Given the description of an element on the screen output the (x, y) to click on. 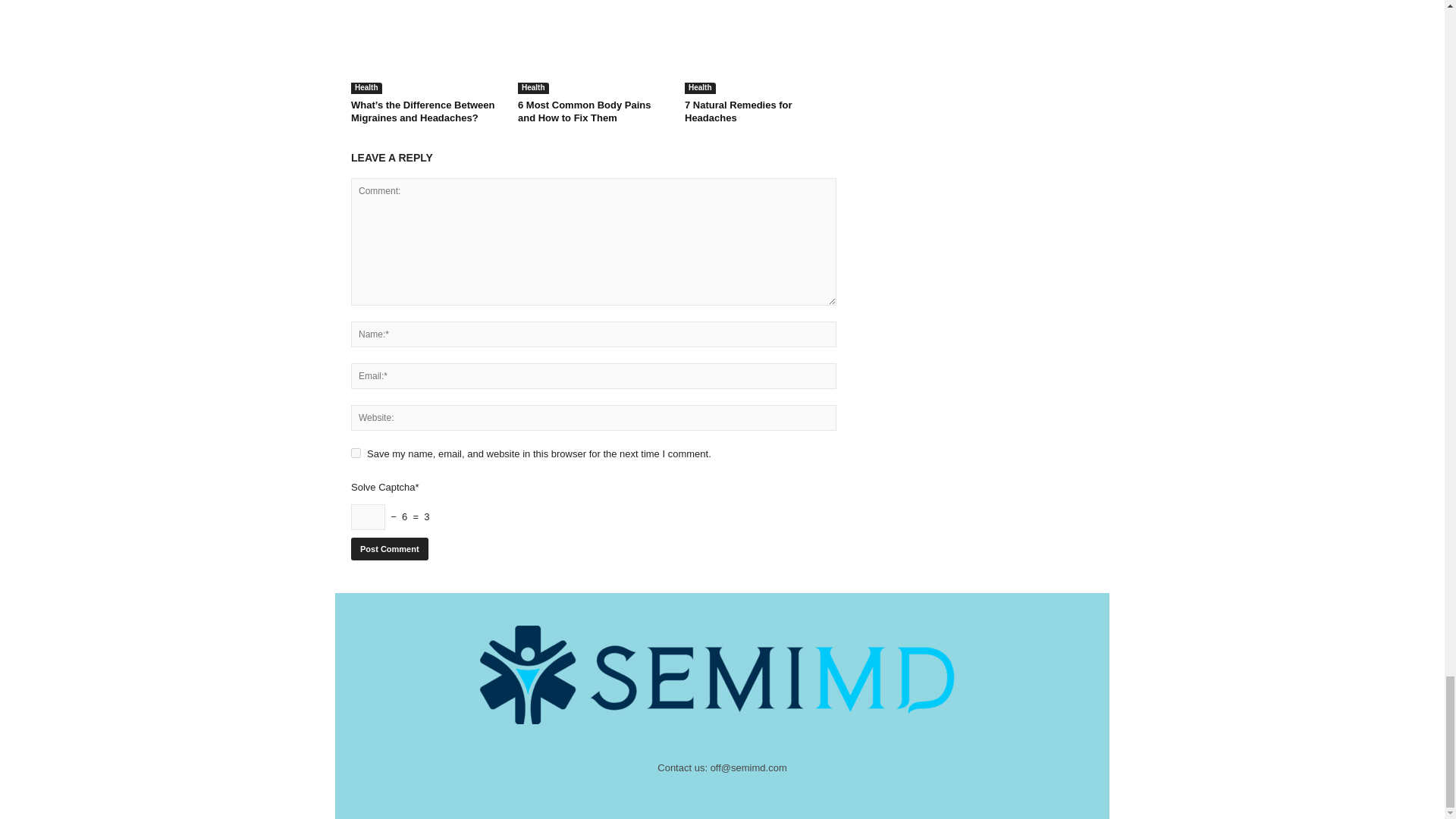
yes (355, 452)
Post Comment (389, 548)
6 Most Common Body Pains and How to Fix Them (593, 47)
